Given the description of an element on the screen output the (x, y) to click on. 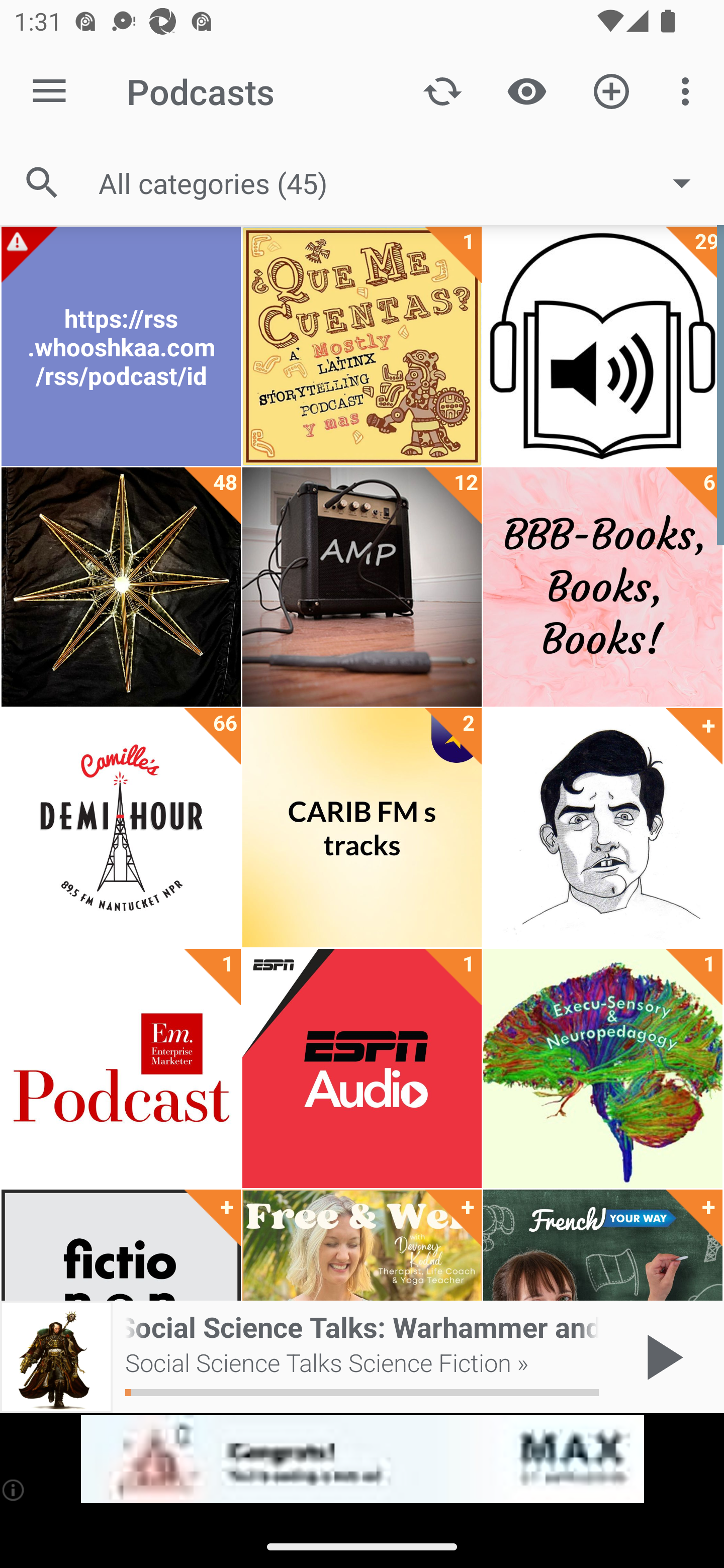
Open navigation sidebar (49, 91)
Update (442, 90)
Show / Hide played content (526, 90)
Add new Podcast (611, 90)
More options (688, 90)
Search (42, 183)
All categories (45) (404, 182)
https://rss.whooshkaa.com/rss/podcast/id/5884 (121, 346)
¿Qué Me Cuentas?: Latinx Storytelling 1 (361, 346)
Audiobooks 29 (602, 346)
Audiobooks 48 (121, 587)
Australian Music Podcasts 12 (361, 587)
BBB-Books, Books, Books! 6 (602, 587)
Camille's Demi-Hour - NANTUCKET NPR 66 (121, 827)
CARIB FM's tracks 2 (361, 827)
Cooking Issues with Dave Arnold + (602, 827)
Enterprise Marketer Podcast - Conference 1 (121, 1068)
ESPN Audio 1 (361, 1068)
Play / Pause (660, 1356)
app-monetization (362, 1459)
(i) (14, 1489)
